Given the description of an element on the screen output the (x, y) to click on. 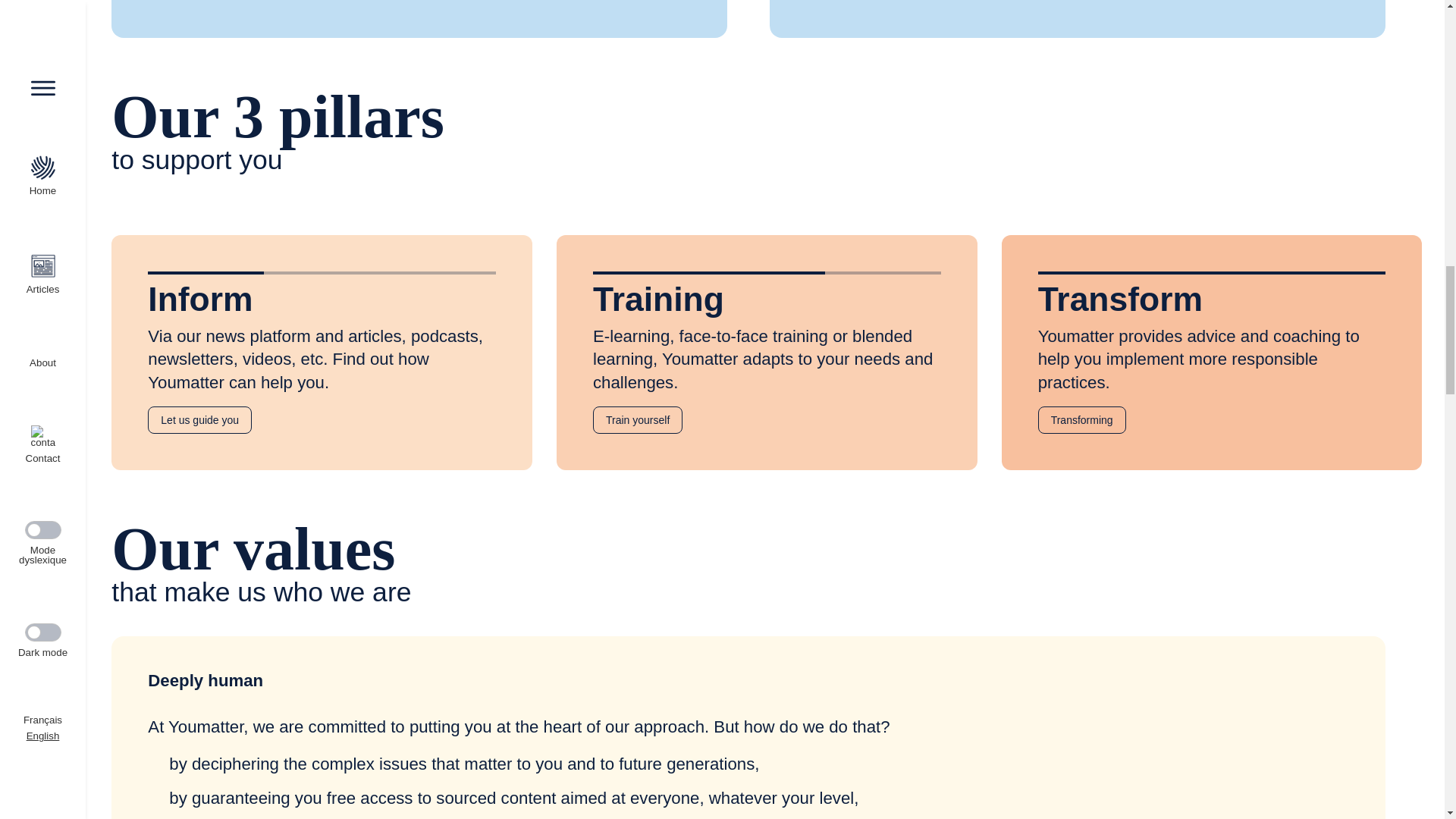
Let us guide you  (199, 420)
Let us guide you (199, 420)
Transforming (1081, 420)
Train yourself (637, 420)
Train yourself (637, 420)
Transforming (1081, 420)
